Given the description of an element on the screen output the (x, y) to click on. 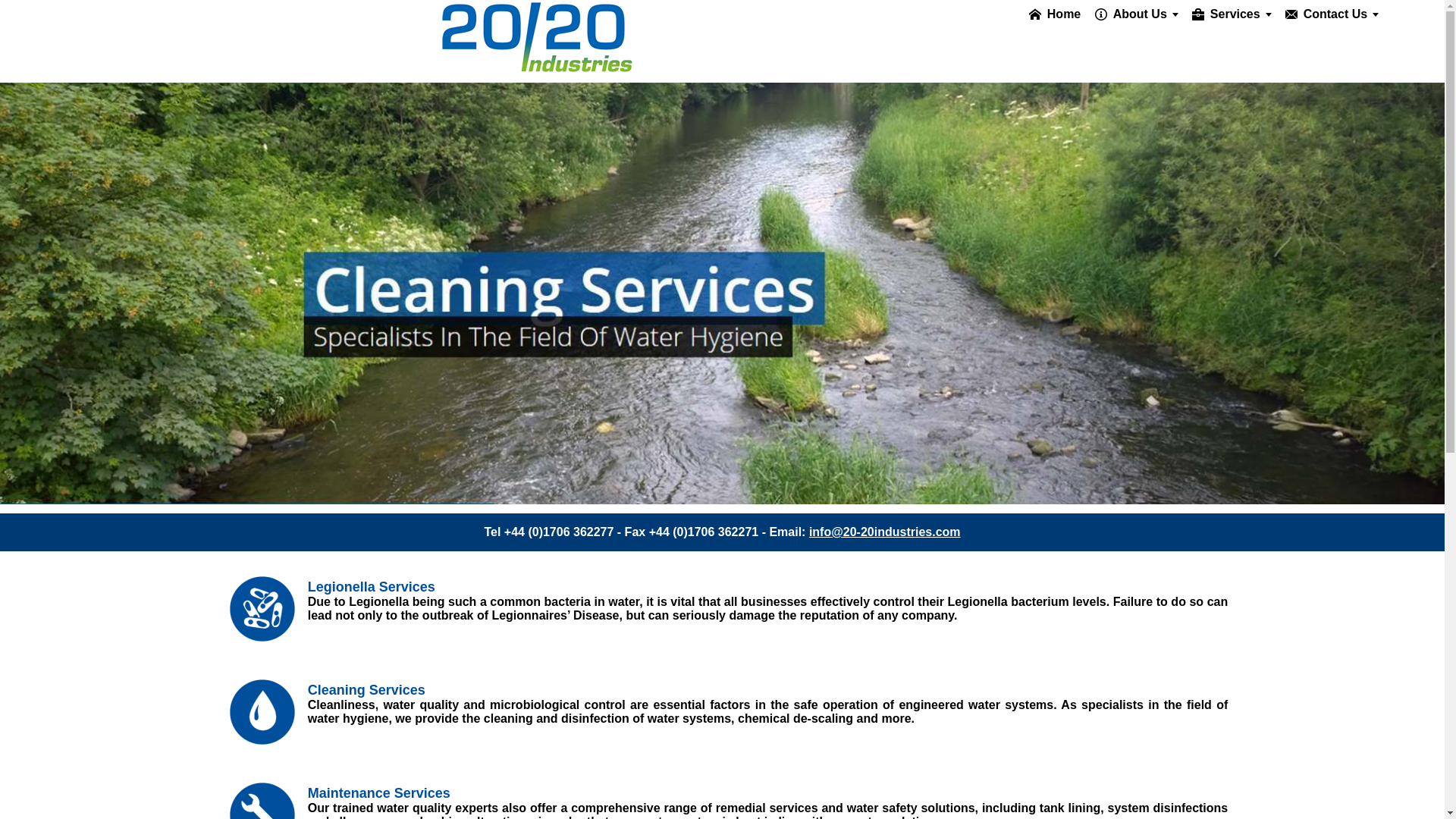
info@20-20industries.com Element type: text (884, 531)
2 Element type: hover (722, 293)
